Given the description of an element on the screen output the (x, y) to click on. 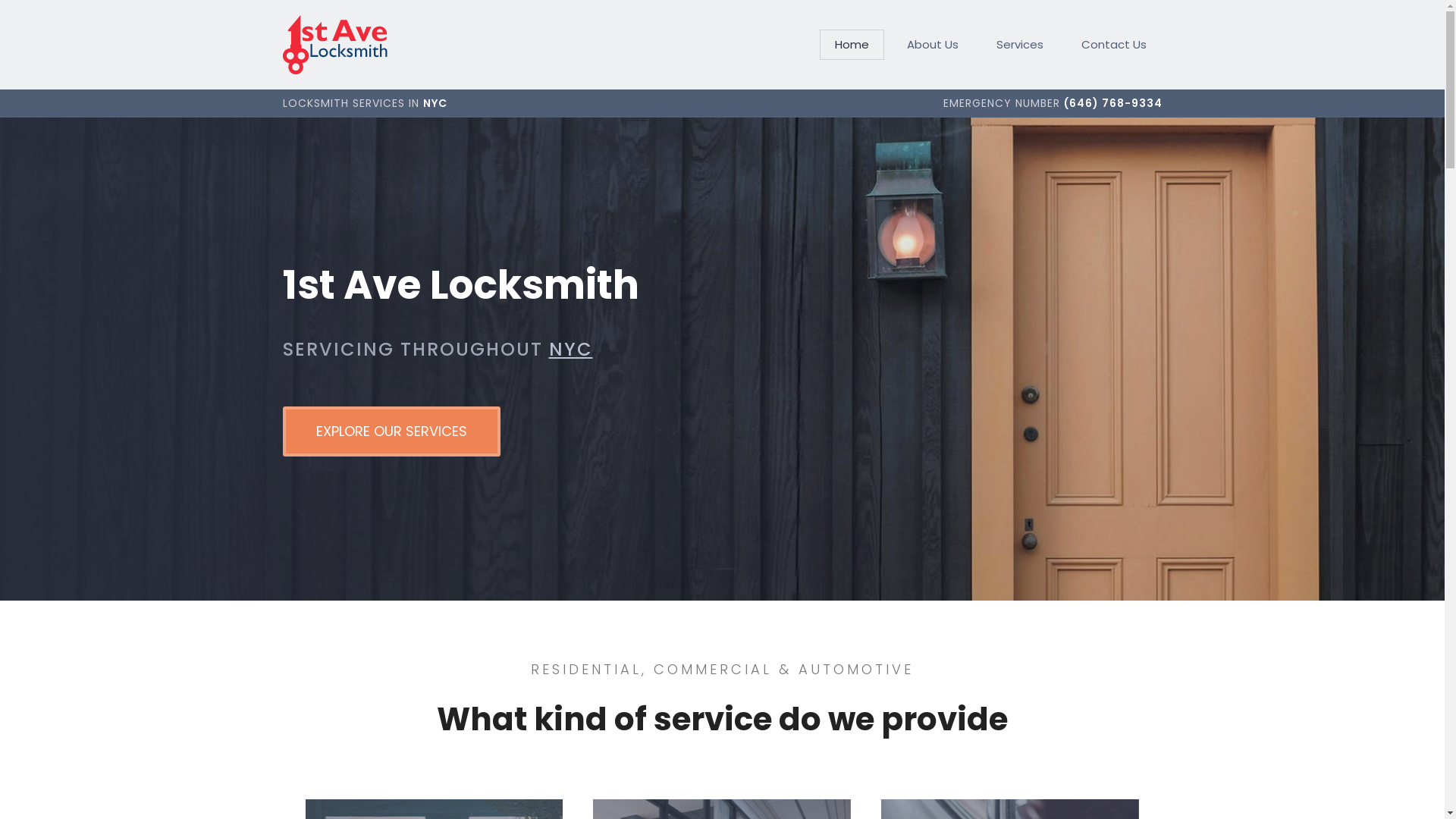
Contact Us Element type: text (1113, 44)
EMERGENCY NUMBER (646) 768-9334 Element type: text (1052, 102)
Services Element type: text (1019, 44)
Home Element type: text (851, 44)
EXPLORE OUR SERVICES Element type: text (390, 431)
About Us Element type: text (932, 44)
